Given the description of an element on the screen output the (x, y) to click on. 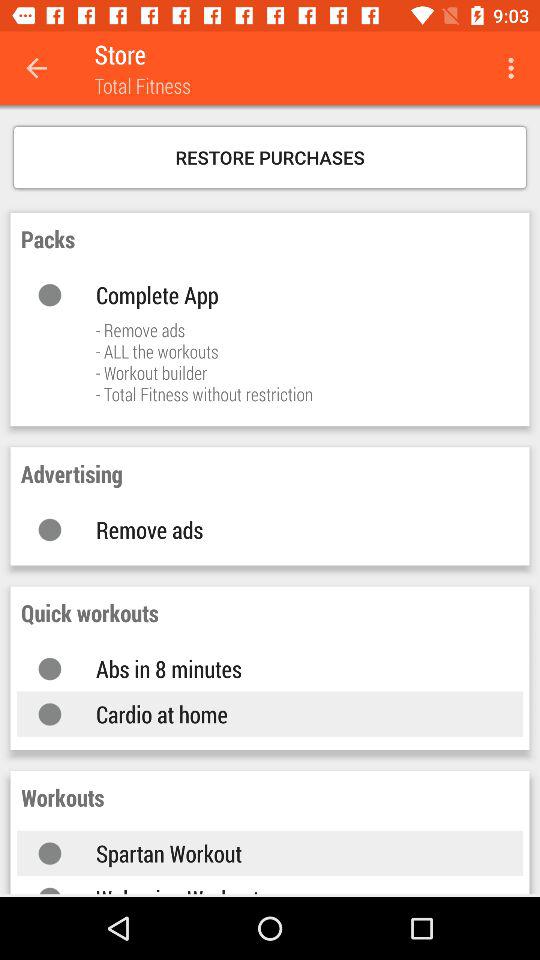
turn off icon next to store item (36, 68)
